Given the description of an element on the screen output the (x, y) to click on. 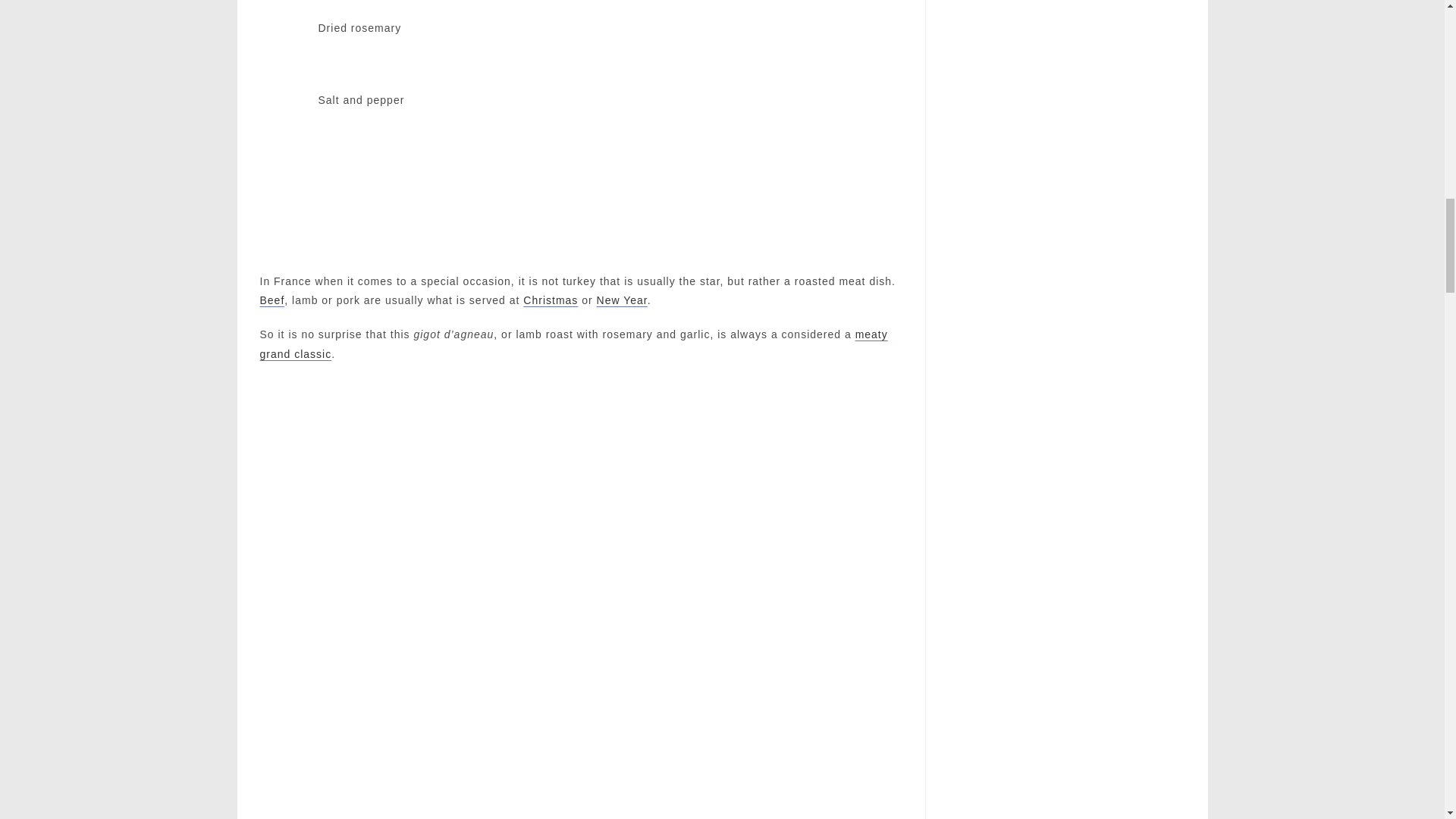
Lamb roast with garlic and rosemary 10 (285, 121)
Lamb roast with garlic and rosemary 9 (285, 49)
Christmas (550, 300)
Beef (271, 300)
meaty grand classic (572, 343)
New Year (621, 300)
